Given the description of an element on the screen output the (x, y) to click on. 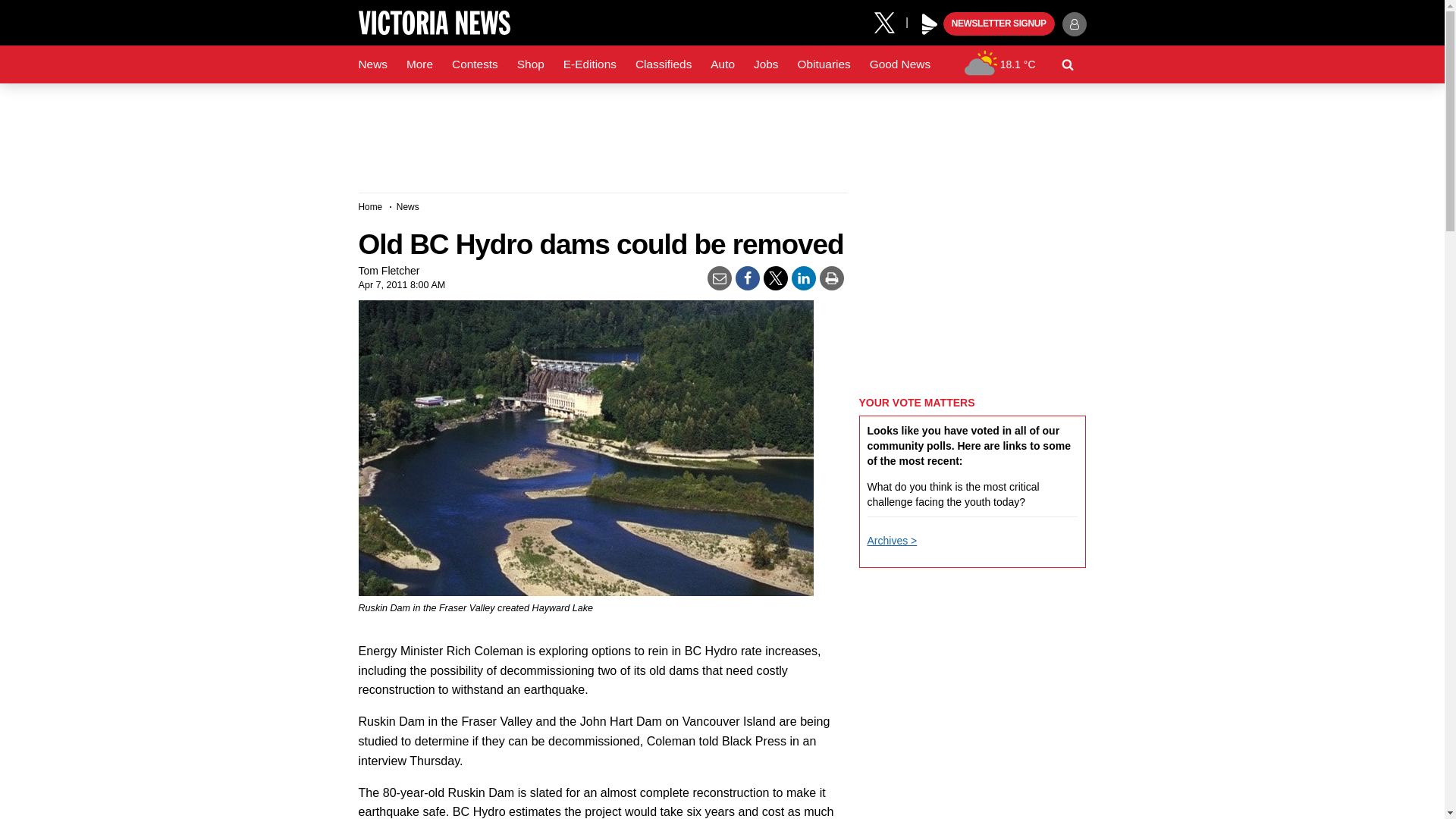
NEWSLETTER SIGNUP (998, 24)
Play (929, 24)
X (889, 21)
Black Press Media (929, 24)
News (372, 64)
